Given the description of an element on the screen output the (x, y) to click on. 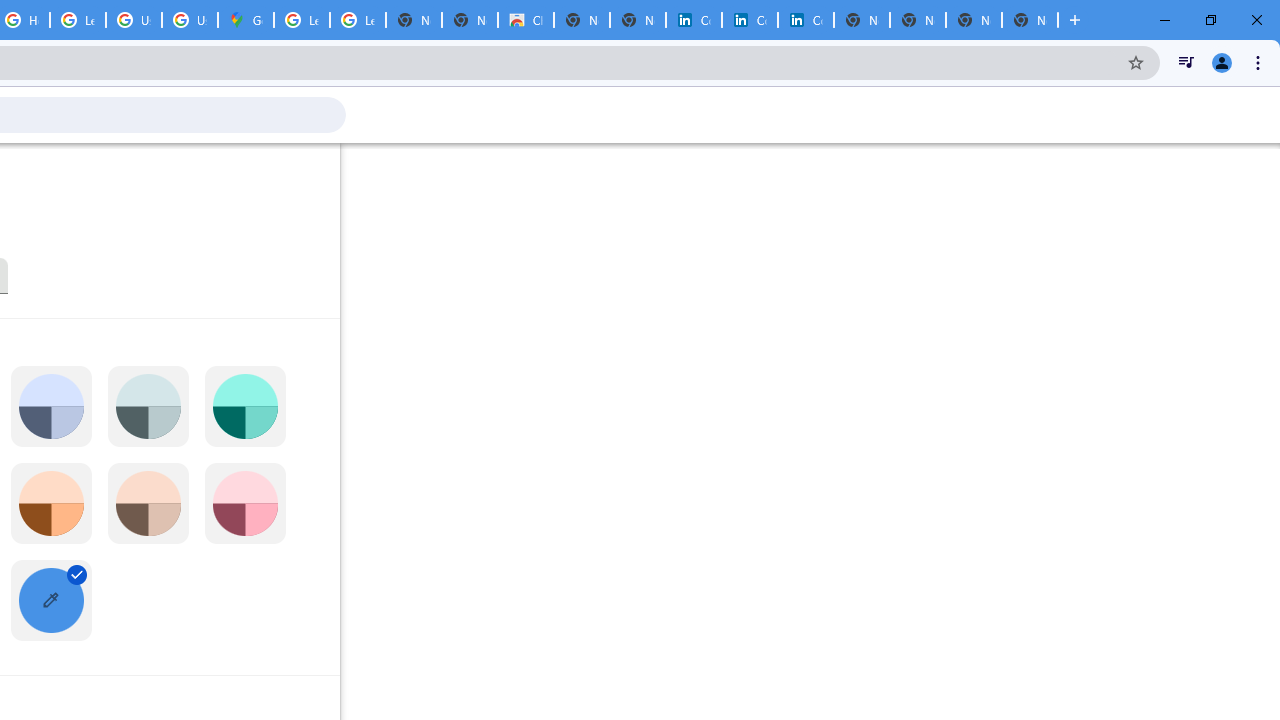
Cookie Policy | LinkedIn (749, 20)
New Tab (1030, 20)
Google Maps (245, 20)
Chrome Web Store (525, 20)
Cookie Policy | LinkedIn (693, 20)
Copyright Policy (806, 20)
